Given the description of an element on the screen output the (x, y) to click on. 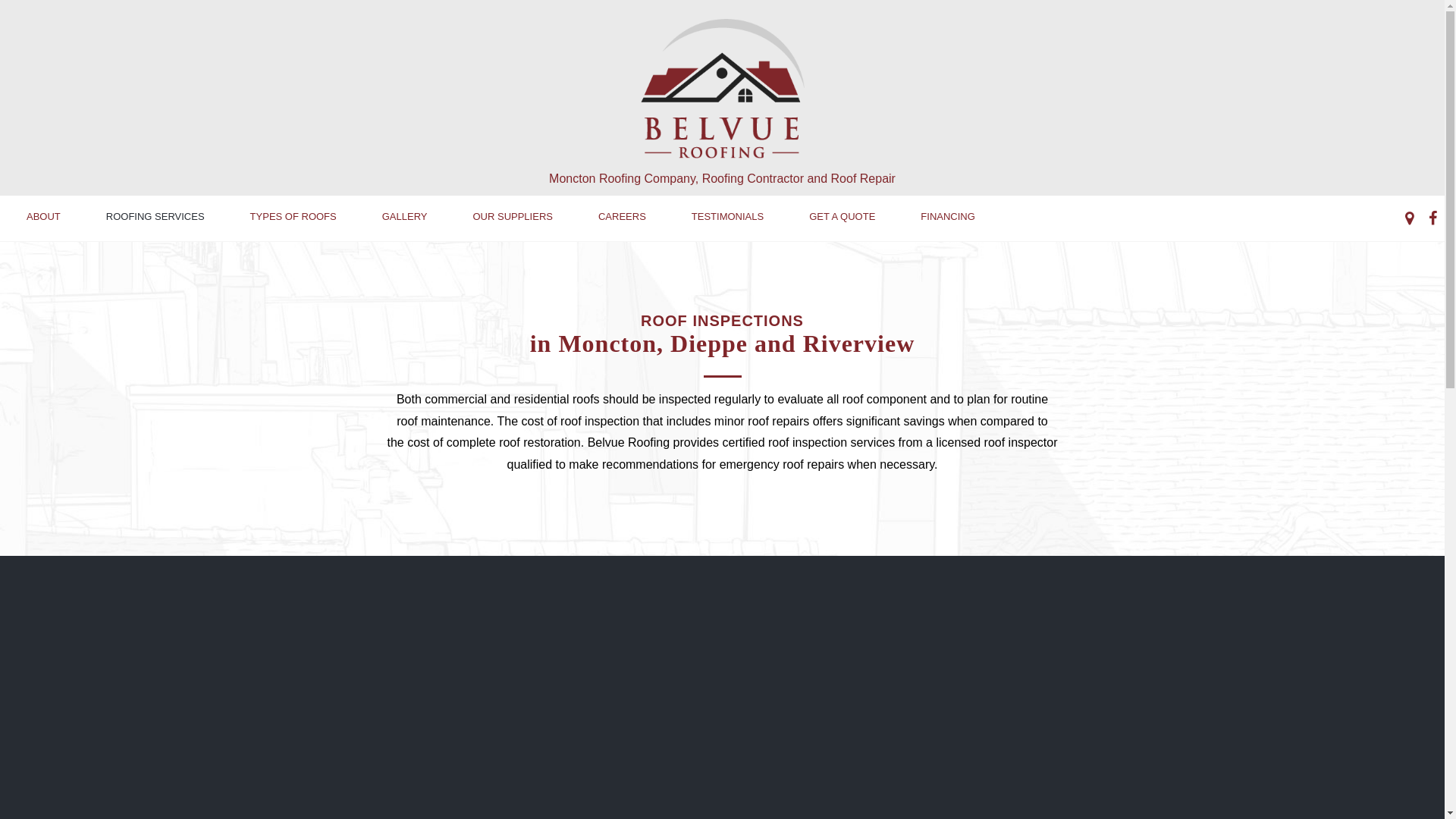
TESTIMONIALS Element type: text (727, 216)
FINANCING Element type: text (947, 216)
Belvue Roofing's Facebook Element type: hover (1432, 218)
Belvue Roofing Logo Element type: hover (721, 88)
CAREERS Element type: text (621, 216)
See on Google Maps Element type: hover (1409, 218)
ABOUT Element type: text (43, 216)
TYPES OF ROOFS Element type: text (293, 216)
ROOFING SERVICES Element type: text (155, 216)
GALLERY Element type: text (404, 216)
GET A QUOTE Element type: text (841, 216)
OUR SUPPLIERS Element type: text (511, 216)
